Given the description of an element on the screen output the (x, y) to click on. 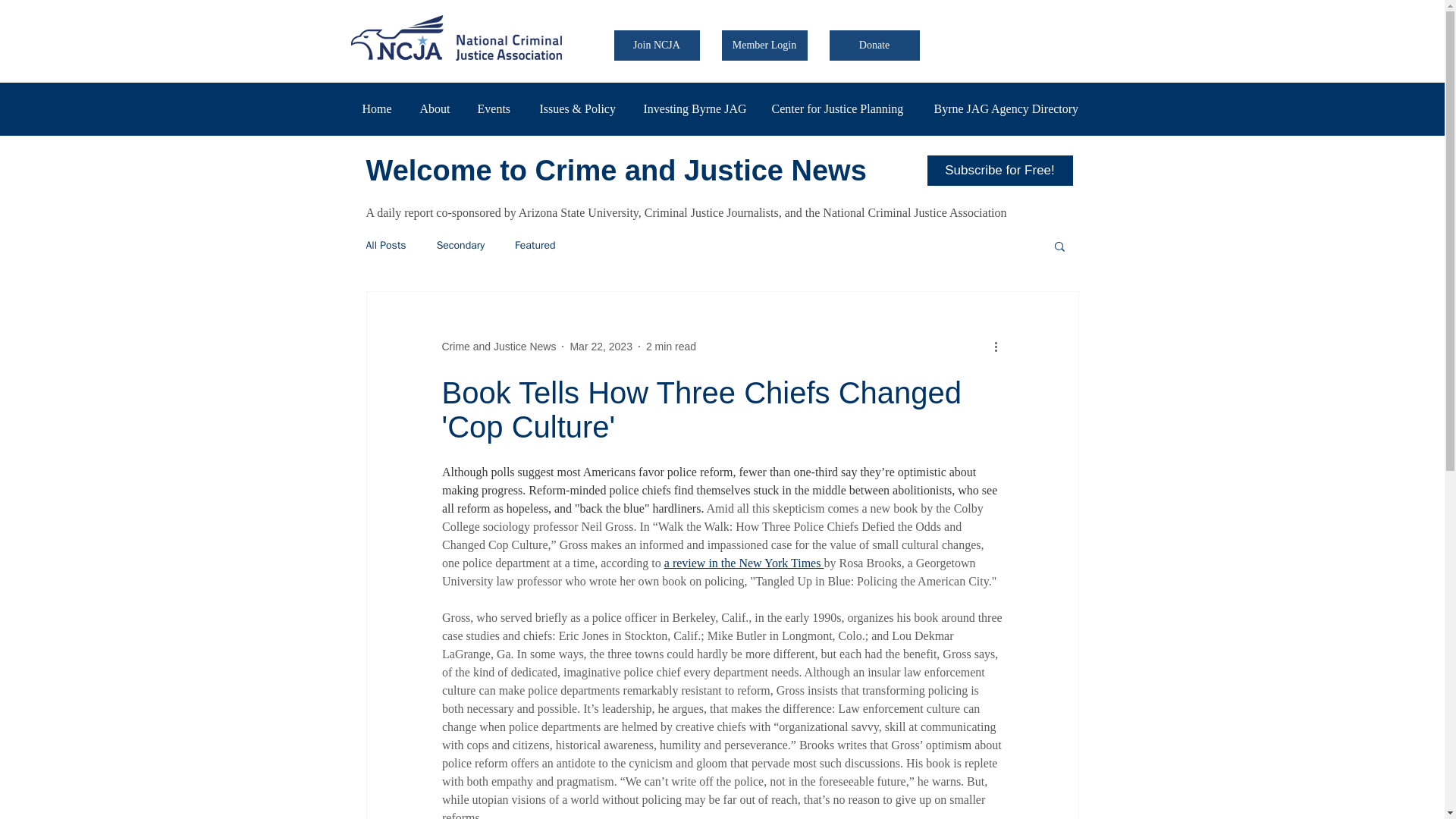
Home (378, 108)
Investing Byrne JAG (695, 108)
Member Login (765, 45)
Mar 22, 2023 (600, 346)
2 min read (670, 346)
Donate (874, 45)
Join NCJA (657, 45)
Center for Justice Planning (840, 108)
Crime and Justice News (498, 346)
About (436, 108)
Events (496, 108)
